Given the description of an element on the screen output the (x, y) to click on. 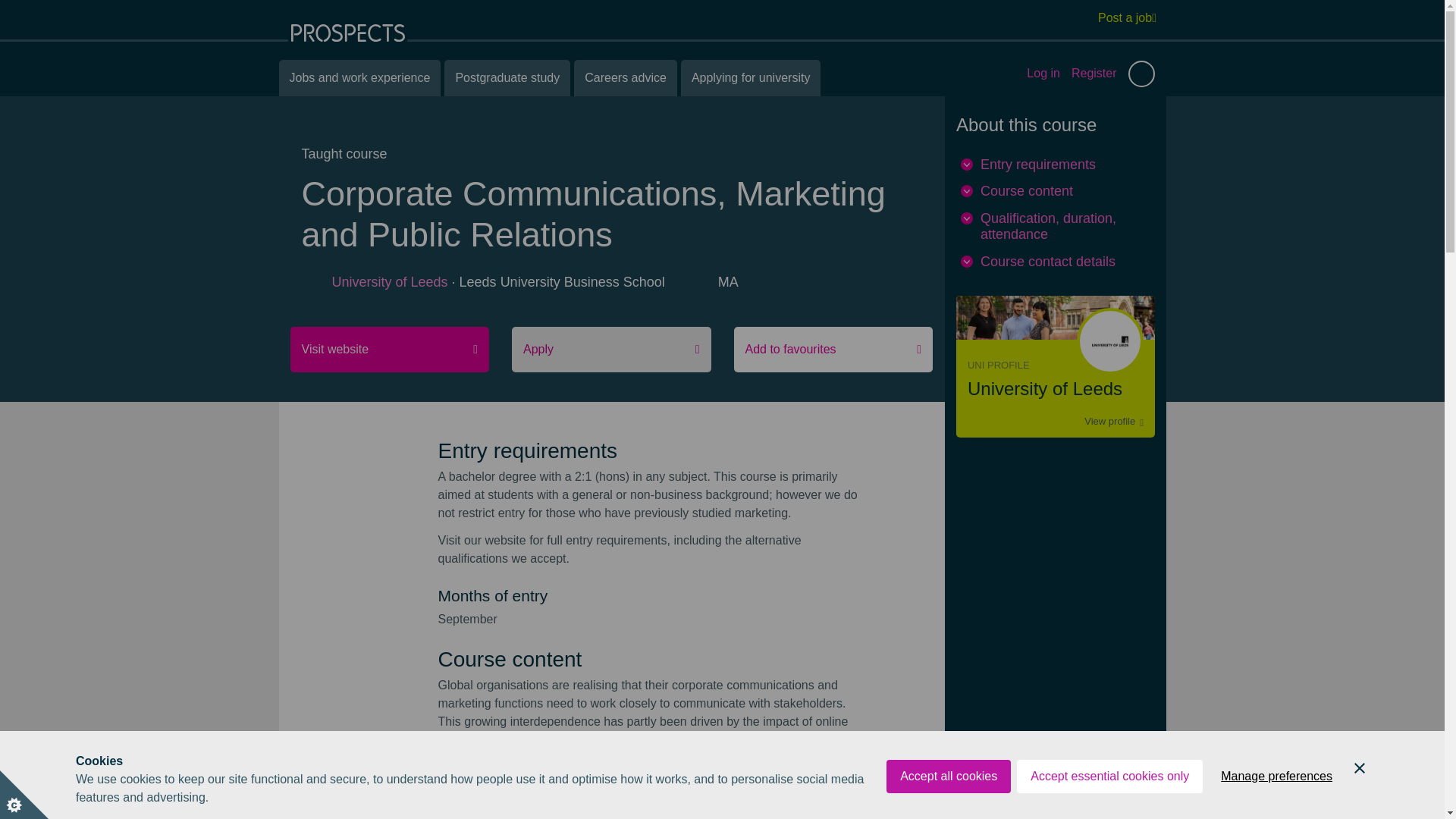
Postgraduate study (507, 77)
Accept essential cookies only (1109, 802)
Manage preferences (1275, 793)
Site search (1141, 73)
Post a job (1126, 18)
Careers advice (625, 77)
Jobs and work experience (360, 77)
Accept all cookies (948, 807)
